Given the description of an element on the screen output the (x, y) to click on. 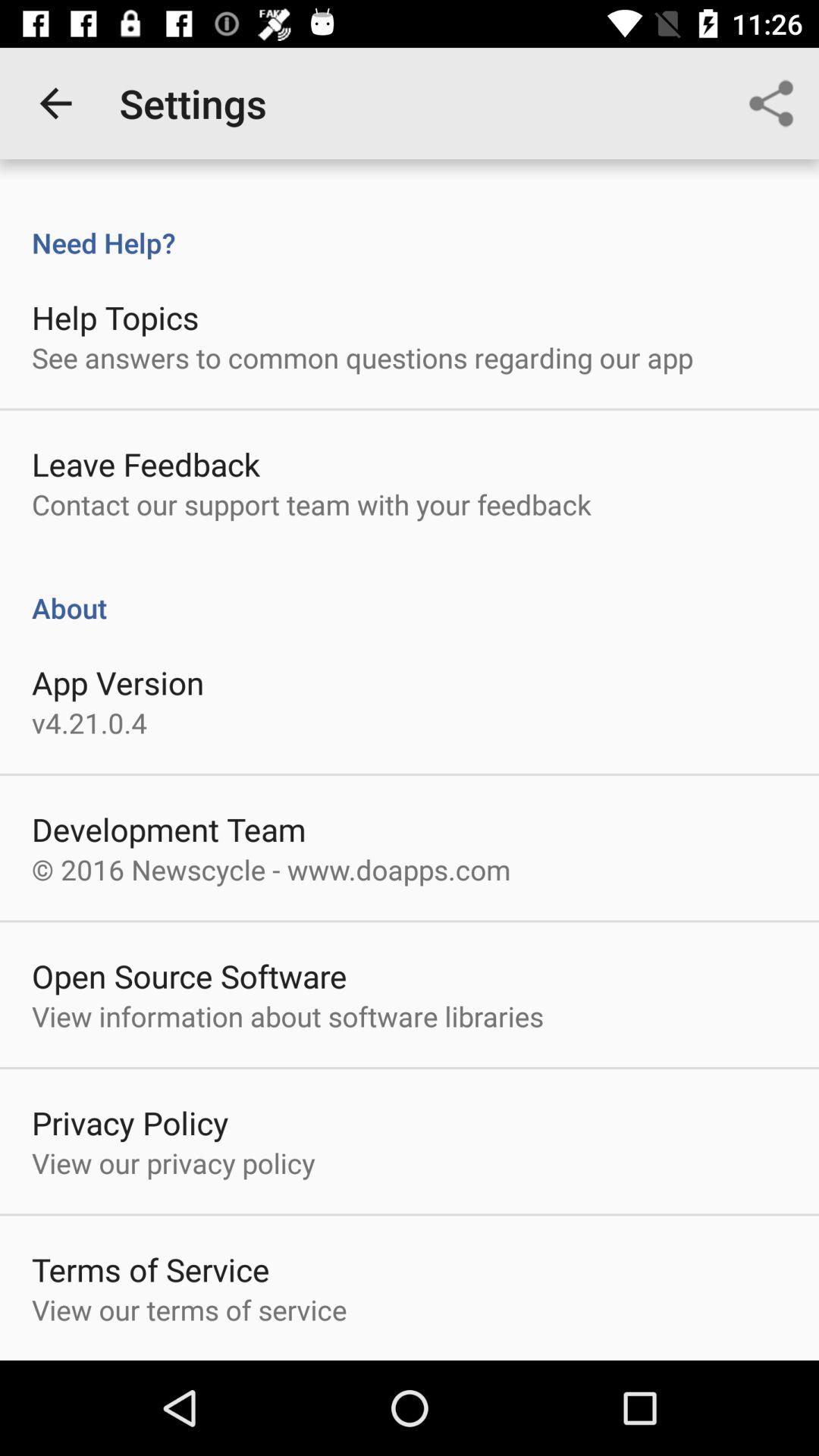
launch icon above the open source software item (270, 869)
